Given the description of an element on the screen output the (x, y) to click on. 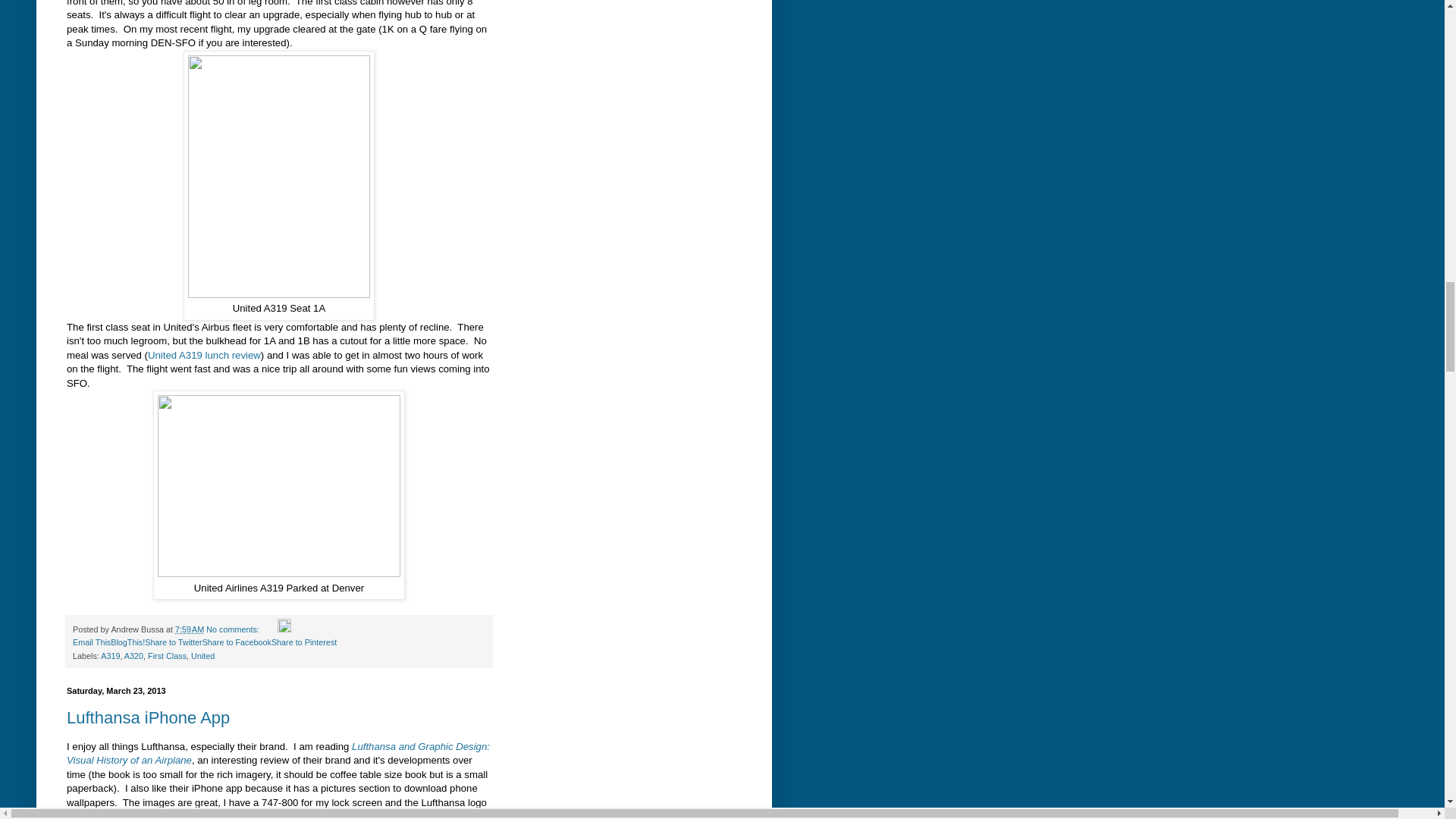
United A319 lunch review (204, 355)
